Given the description of an element on the screen output the (x, y) to click on. 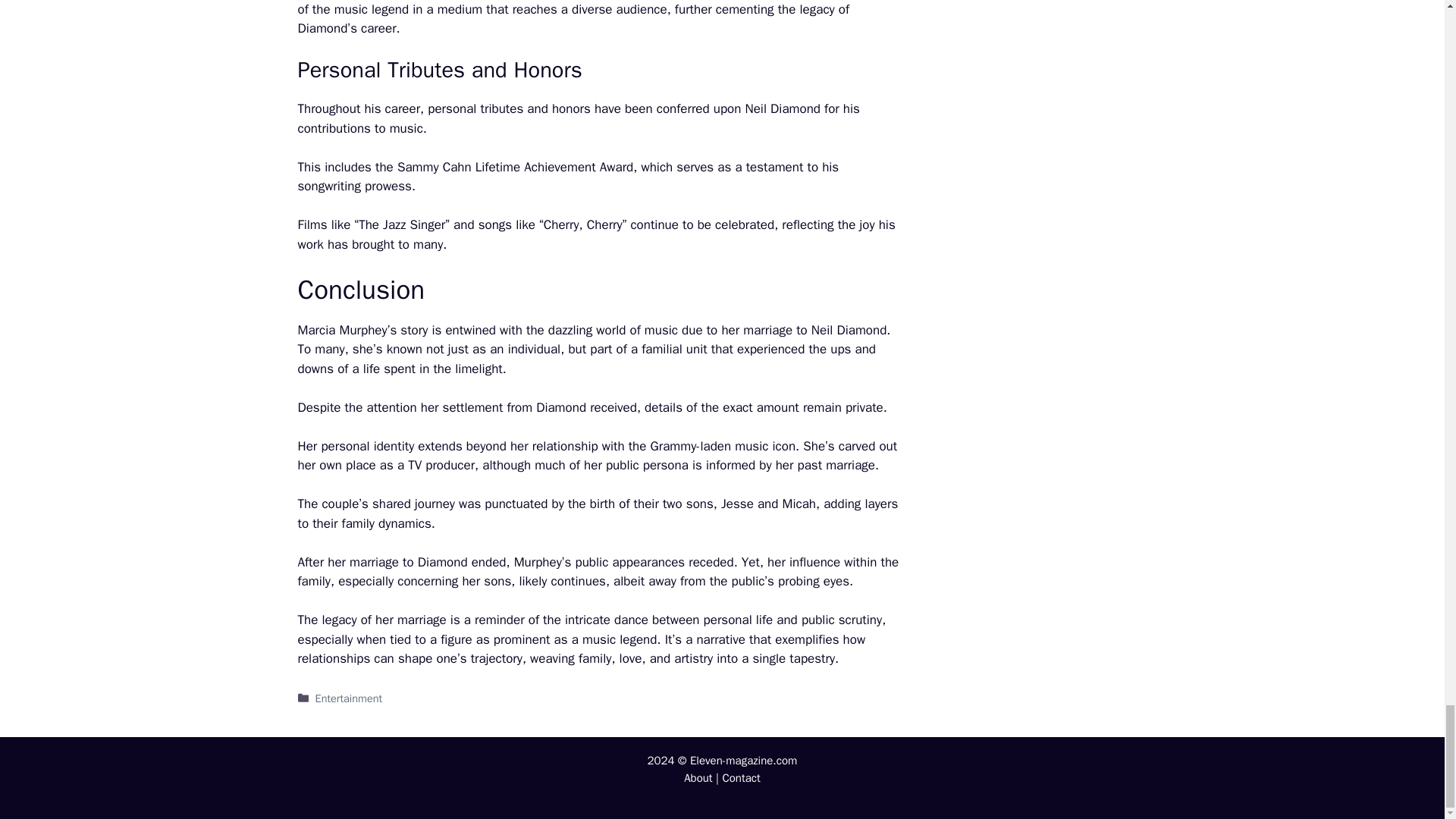
Contact (741, 777)
Entertainment (348, 698)
About (697, 777)
